Given the description of an element on the screen output the (x, y) to click on. 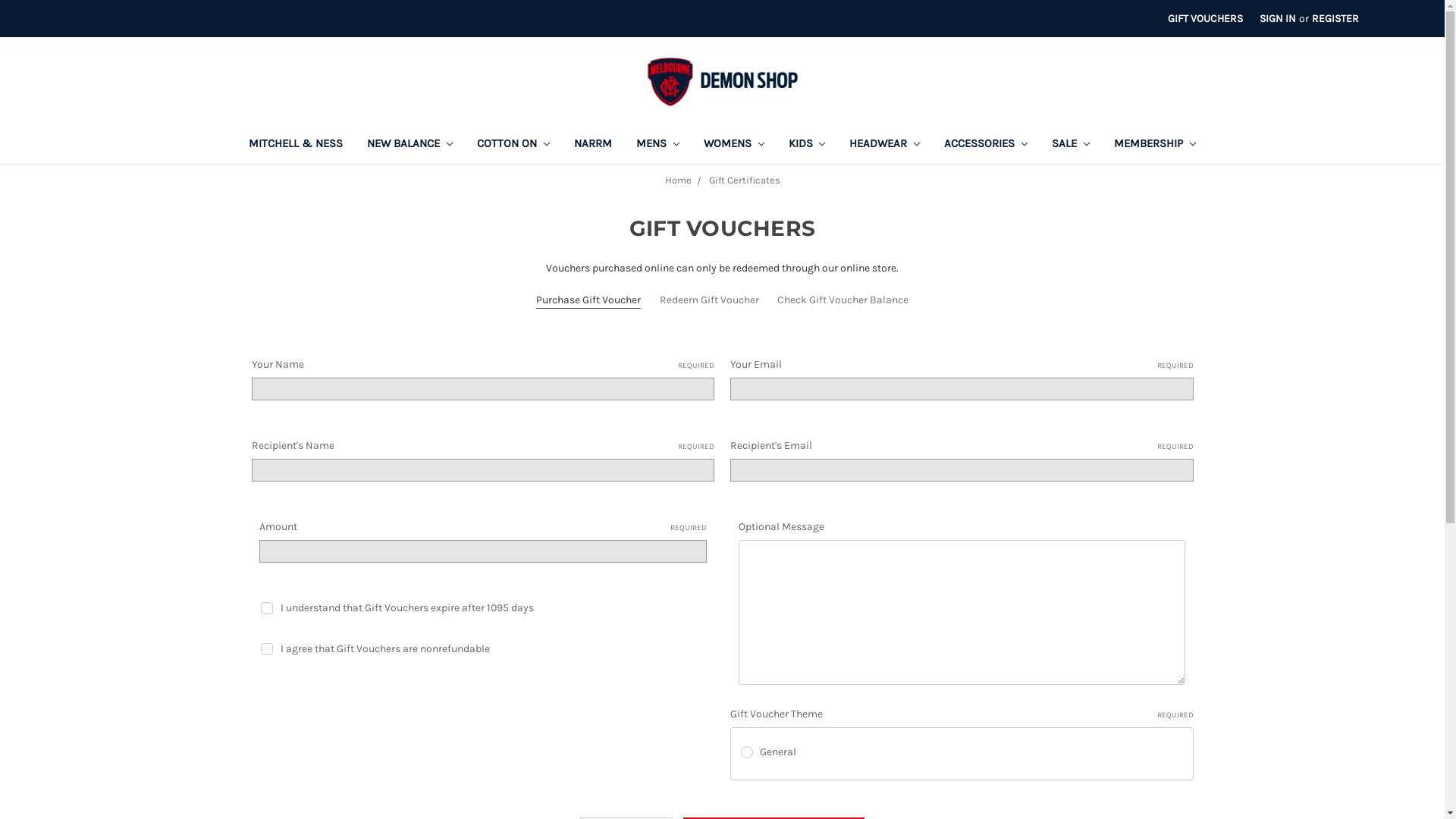
MITCHELL & NESS Element type: text (295, 144)
REGISTER Element type: text (1335, 18)
SIGN IN Element type: text (1277, 18)
NEW BALANCE Element type: text (409, 144)
KIDS Element type: text (806, 144)
Home Element type: text (677, 179)
MENS Element type: text (657, 144)
Wishlist Element type: hover (1403, 10)
SALE Element type: text (1070, 144)
MEMBERSHIP Element type: text (1154, 144)
Check Gift Voucher Balance Element type: text (842, 299)
COTTON ON Element type: text (512, 144)
NARRM Element type: text (592, 144)
Redeem Gift Voucher Element type: text (709, 299)
HEADWEAR Element type: text (884, 144)
WOMENS Element type: text (733, 144)
GIFT VOUCHERS Element type: text (1205, 18)
ACCESSORIES Element type: text (985, 144)
Melbourne Football Club Element type: hover (722, 81)
